Given the description of an element on the screen output the (x, y) to click on. 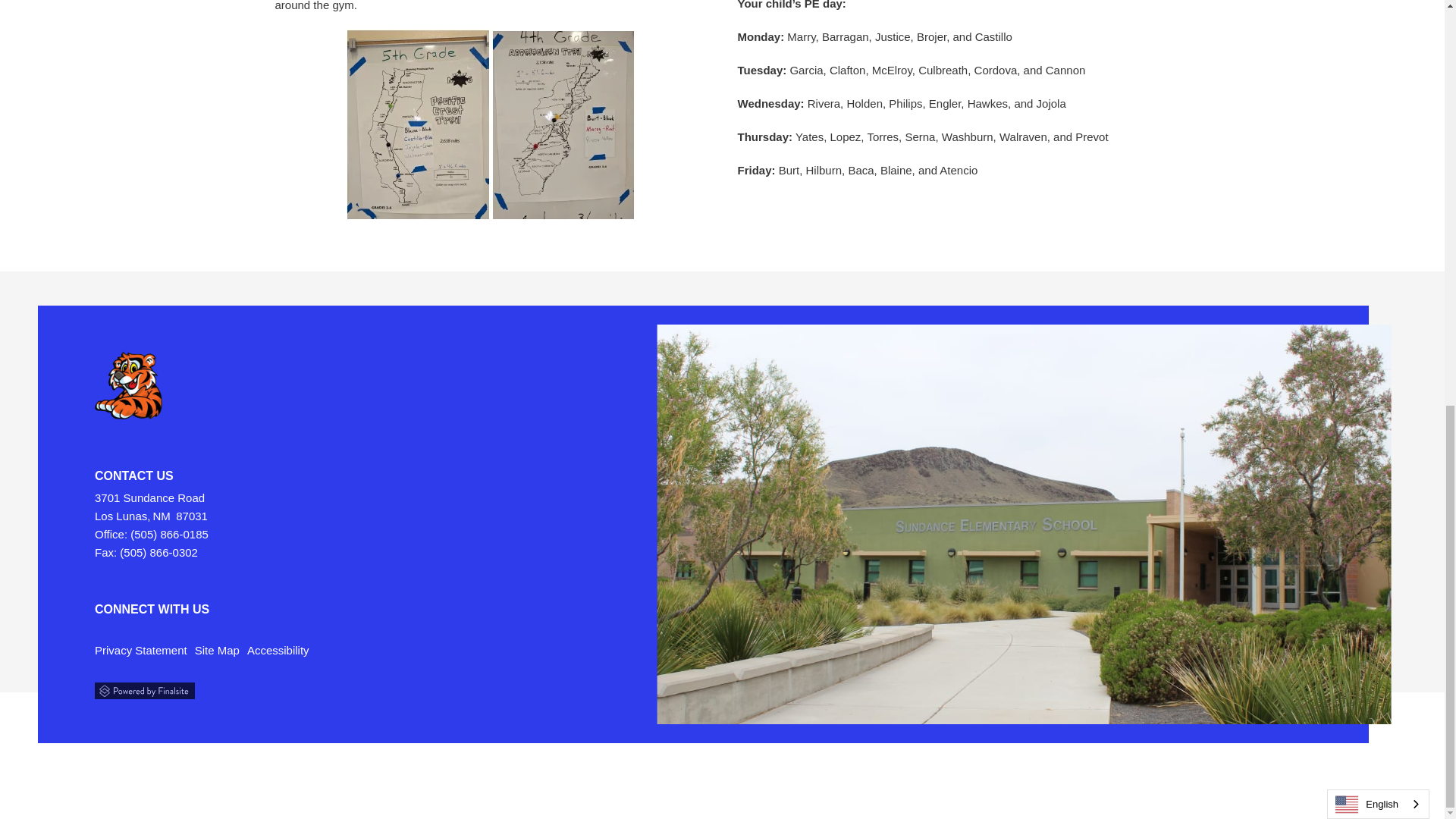
Powered by Finalsite opens in a new window (144, 687)
